Given the description of an element on the screen output the (x, y) to click on. 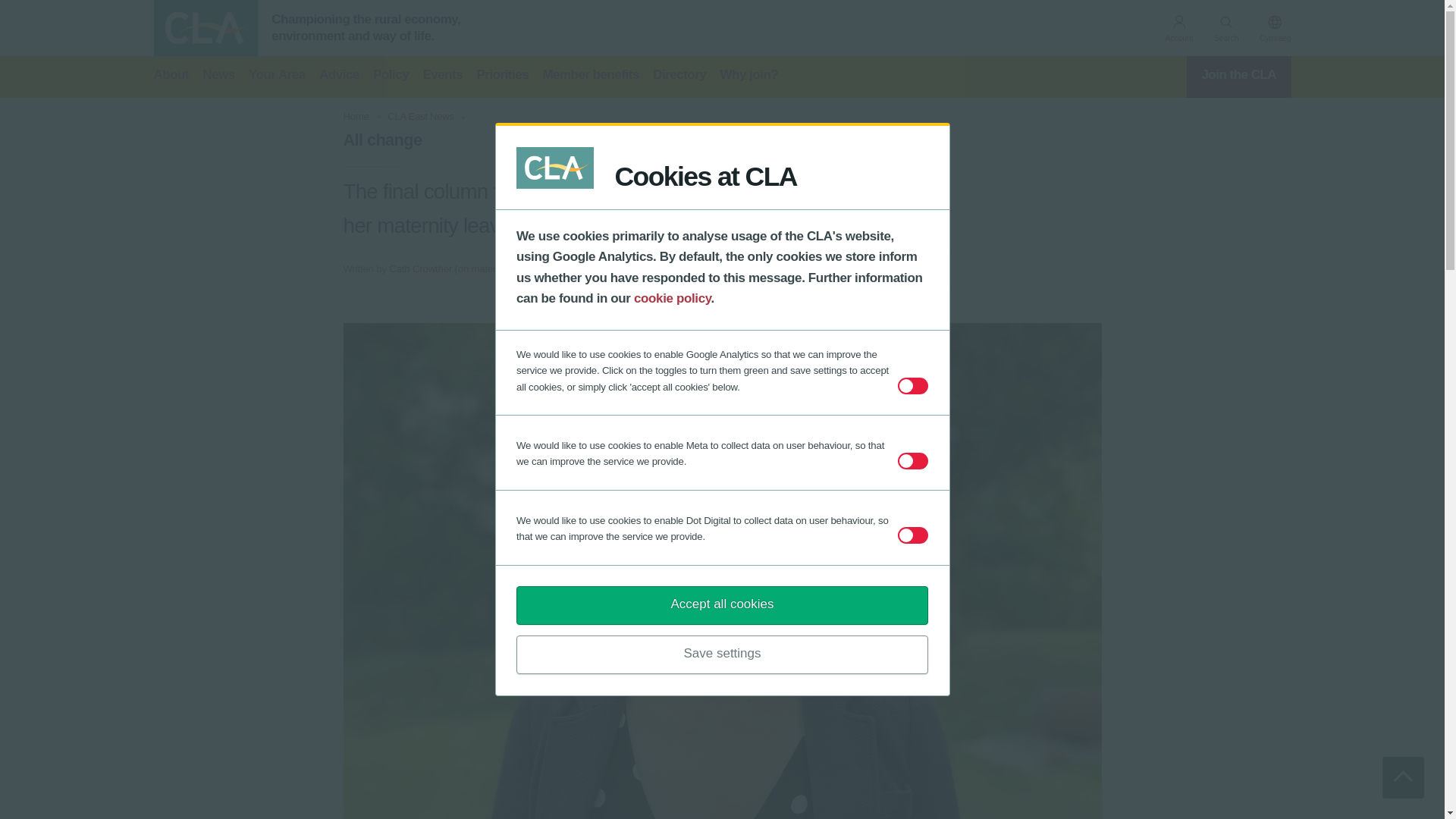
Why join? (749, 76)
CLA East News (419, 116)
Events (442, 76)
Cymraeg (1275, 29)
Join the CLA (1238, 76)
Home (355, 116)
cookie policy (672, 298)
Account (1178, 29)
Priorities (502, 76)
Accept all cookies (722, 605)
Directory (679, 76)
Your Area (276, 76)
Advice (338, 76)
Member benefits (590, 76)
Save settings (722, 654)
